Given the description of an element on the screen output the (x, y) to click on. 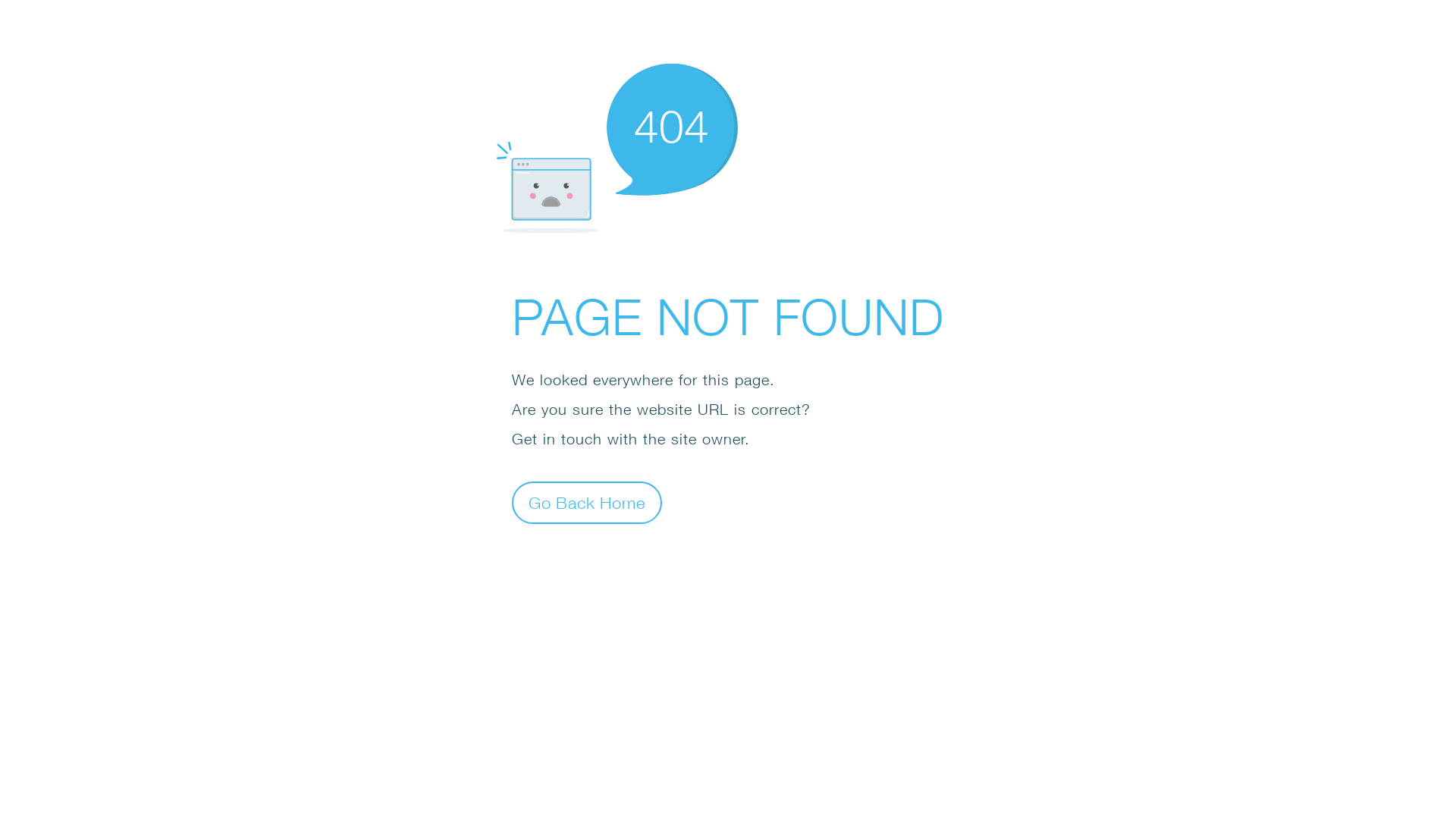
Go Back Home Element type: text (586, 502)
